Given the description of an element on the screen output the (x, y) to click on. 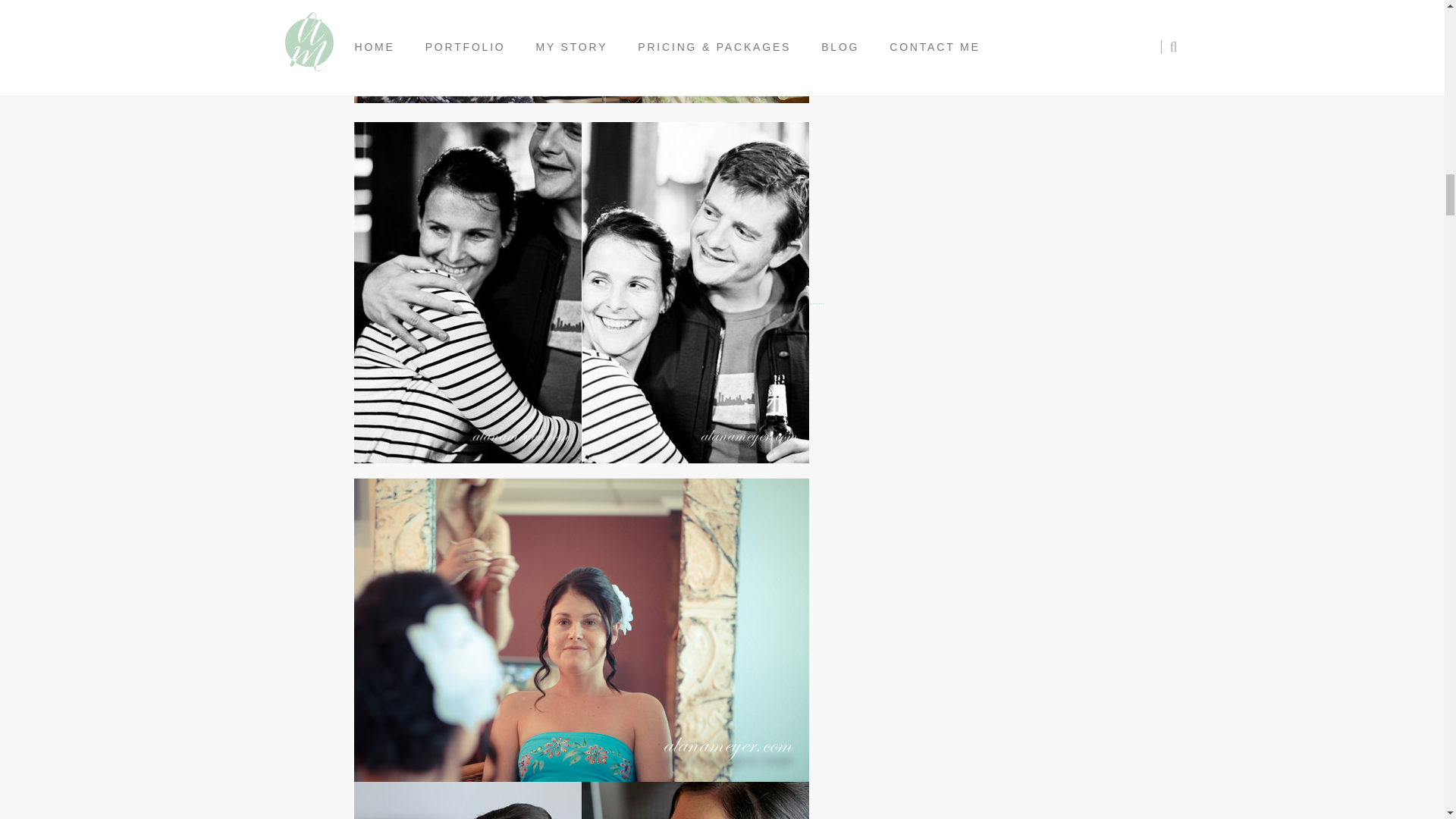
beauty (581, 800)
Daleblog-7 (581, 51)
